Given the description of an element on the screen output the (x, y) to click on. 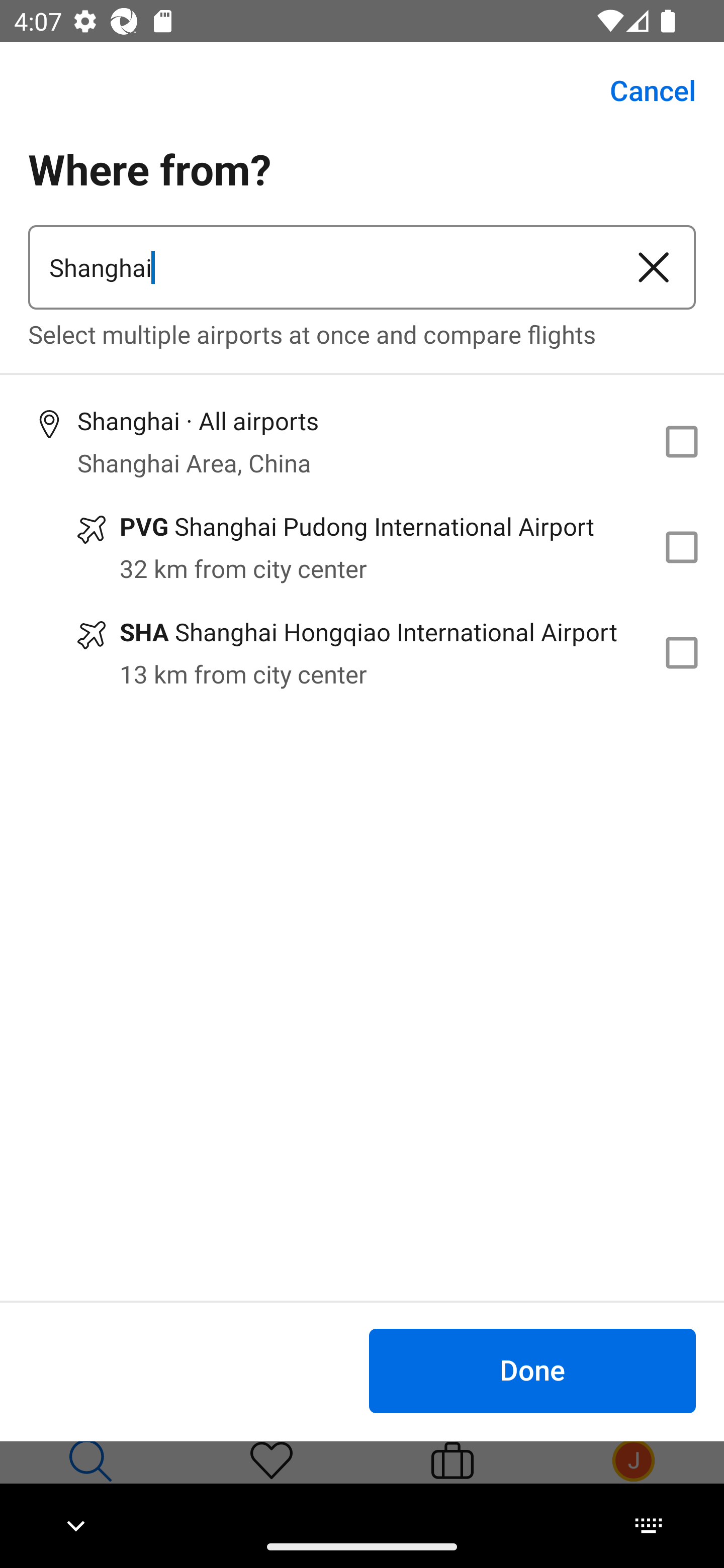
Cancel (641, 90)
Shanghai (319, 266)
Clear airport or city (653, 266)
Shanghai · All airports Shanghai Area, China (362, 440)
Done (532, 1370)
